Given the description of an element on the screen output the (x, y) to click on. 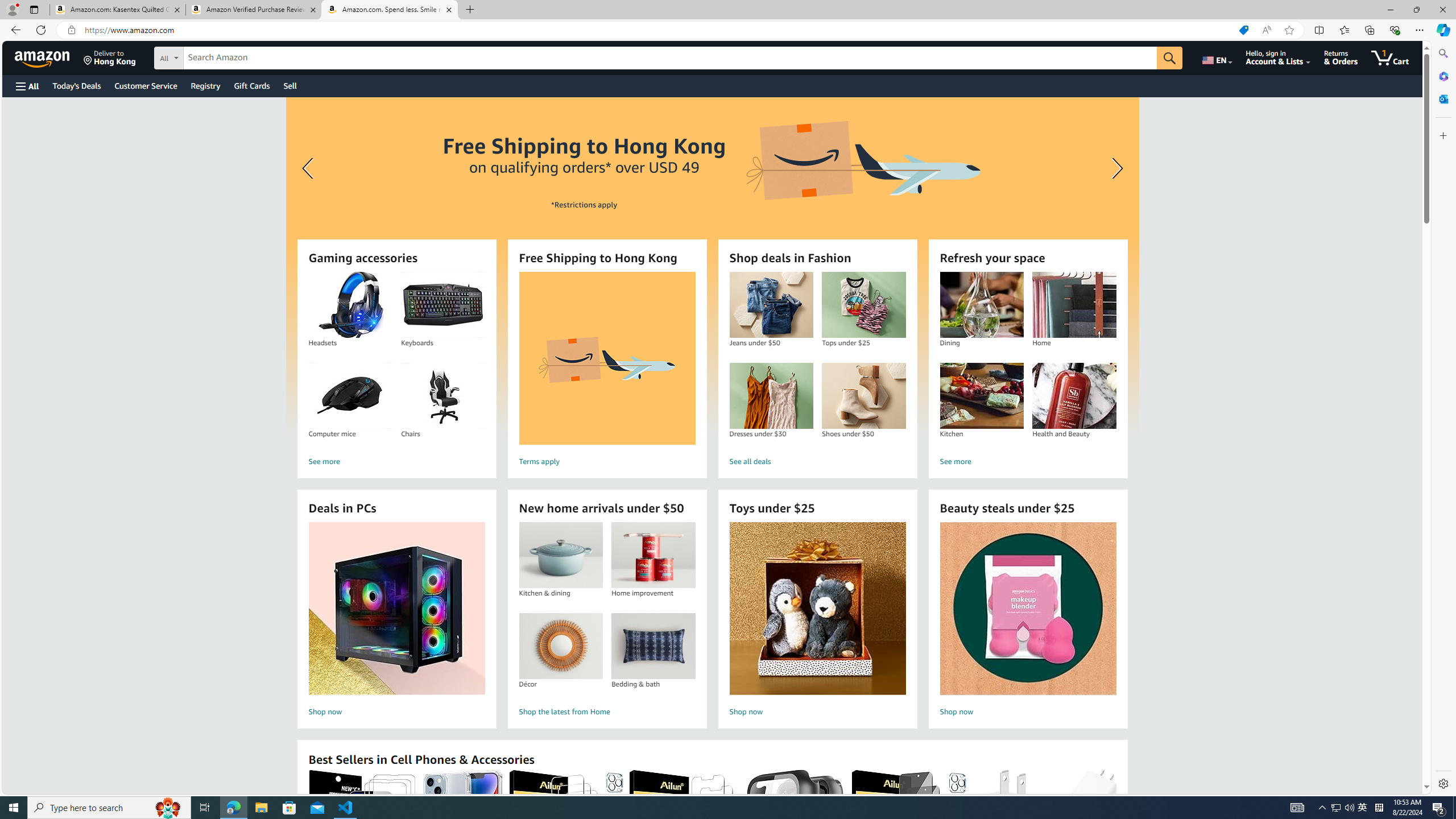
Health and Beauty (1074, 395)
Chairs (442, 395)
Next slide (1114, 168)
Free Shipping to Hong Kong Terms apply (606, 370)
Sell (290, 85)
Bedding & bath (653, 645)
Dining (981, 304)
Open Menu (26, 86)
